Given the description of an element on the screen output the (x, y) to click on. 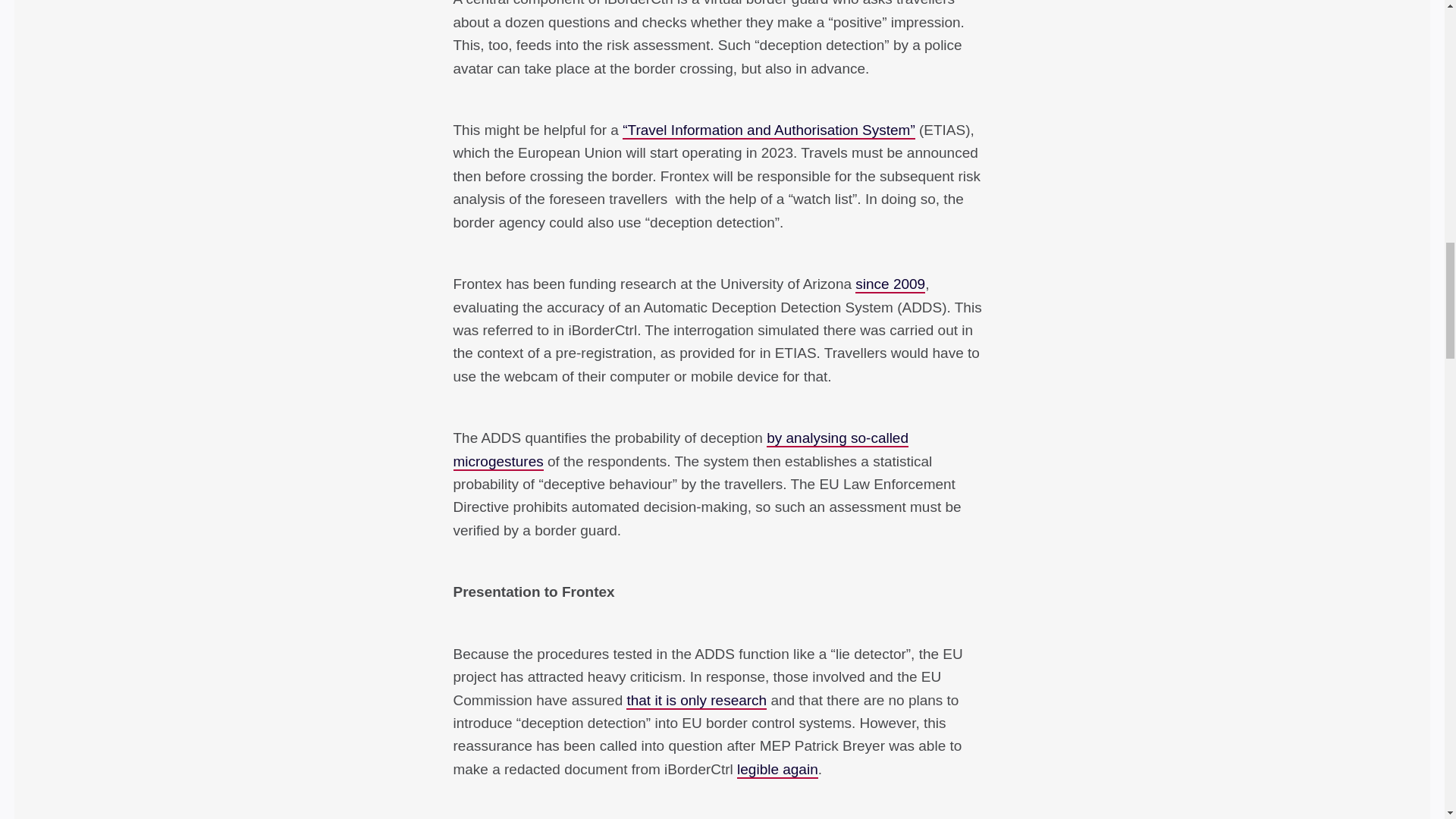
legible again (777, 769)
that it is only research (696, 701)
since 2009 (890, 284)
by analysing so-called microgestures (680, 449)
